Given the description of an element on the screen output the (x, y) to click on. 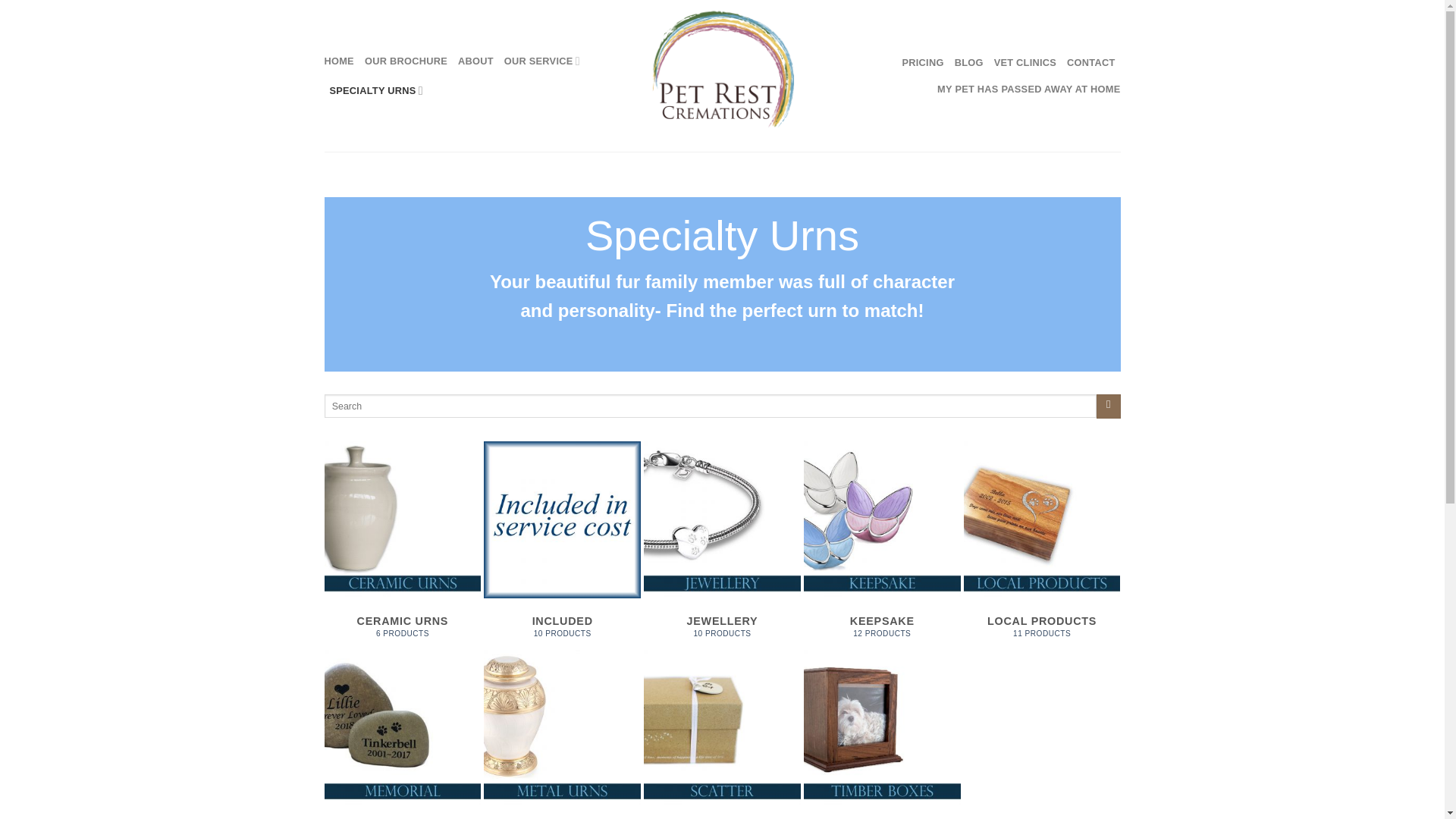
OUR SERVICE (721, 734)
PRICING (541, 60)
BLOG (922, 62)
OUR BROCHURE (402, 734)
CONTACT (969, 62)
Search (405, 60)
VET CLINICS (1091, 62)
HOME (1107, 405)
ABOUT (1025, 62)
MY PET HAS PASSED AWAY AT HOME (338, 60)
Pet Rest Cremations - Respect and dignity they deserve (561, 734)
